Given the description of an element on the screen output the (x, y) to click on. 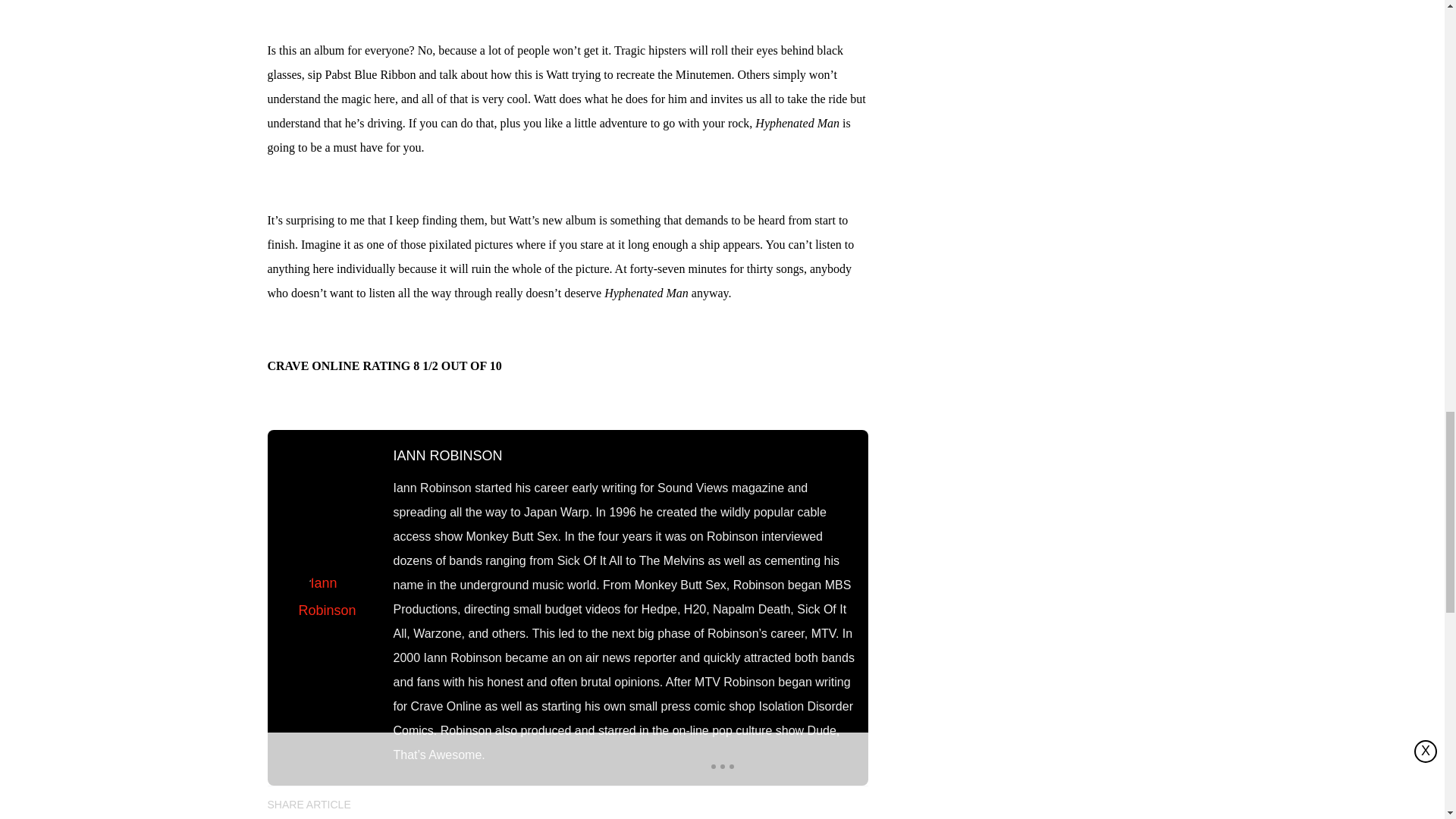
LinkedIn (420, 804)
Pinterest (505, 804)
Facebook (377, 804)
Twitter (463, 804)
IANN ROBINSON (447, 455)
